Given the description of an element on the screen output the (x, y) to click on. 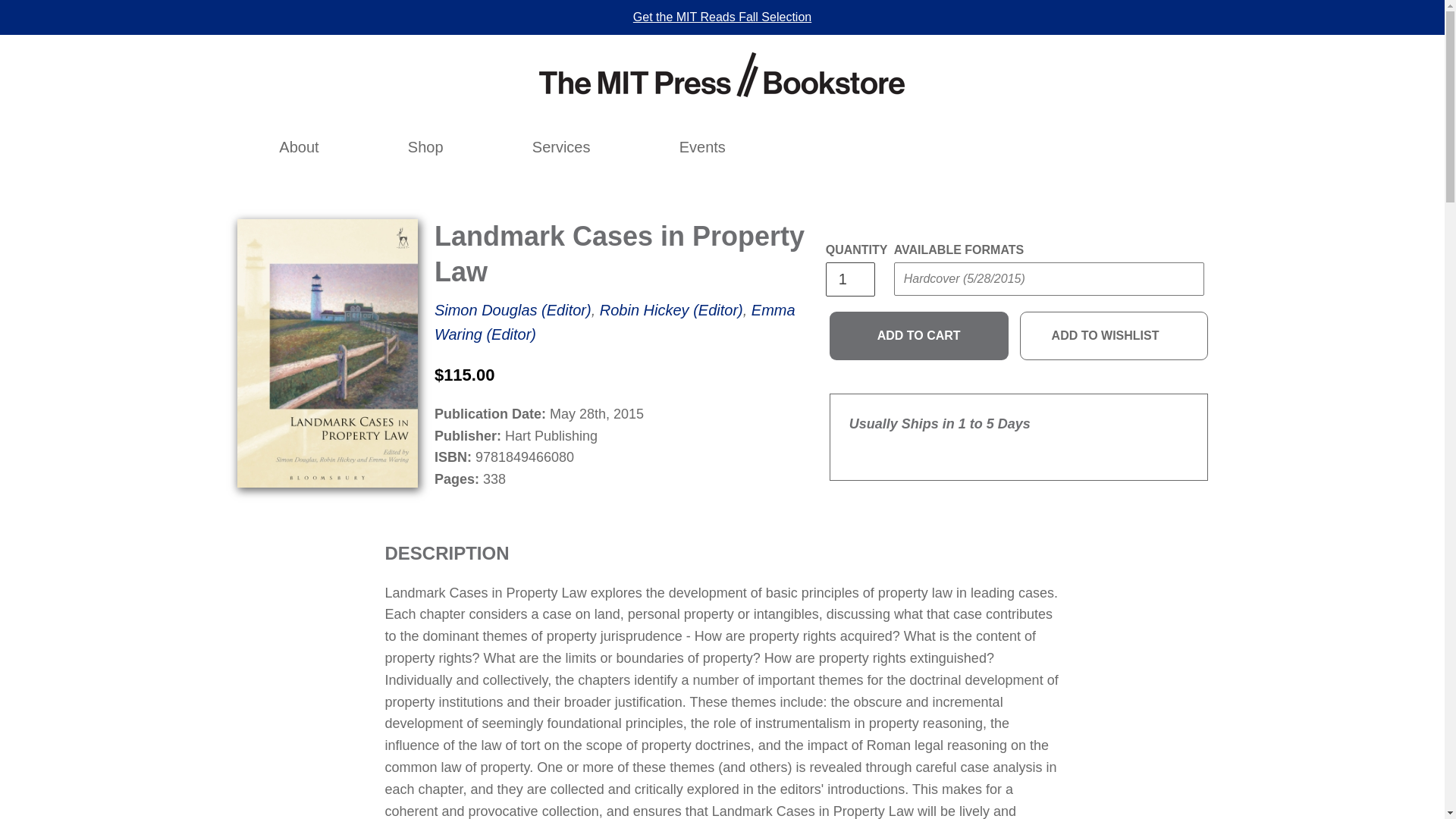
Submit (1169, 135)
ADD TO WISHLIST (1114, 336)
Log in (1022, 146)
Events (702, 146)
Add to cart (919, 336)
Wishlists (1055, 146)
Search (989, 146)
Services (561, 146)
Link to mit press bookstore events listing (702, 146)
